Given the description of an element on the screen output the (x, y) to click on. 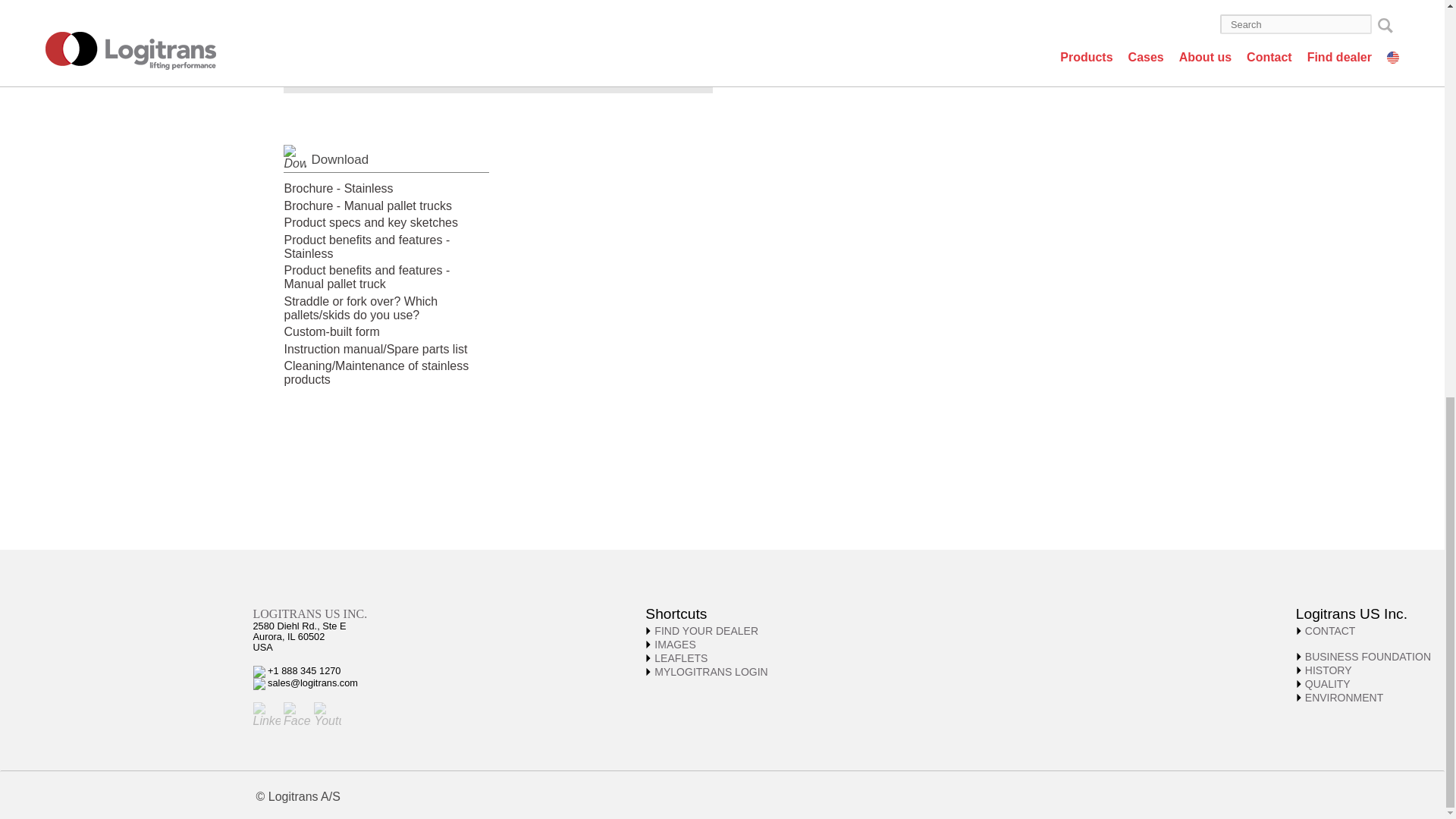
Product benefits and features - Manual pallet truck (366, 276)
Brochure - Stainless (338, 187)
Brochure - Manual pallet trucks (367, 205)
Product benefits and features - Stainless (366, 246)
Product specs and key sketches (370, 222)
